Given the description of an element on the screen output the (x, y) to click on. 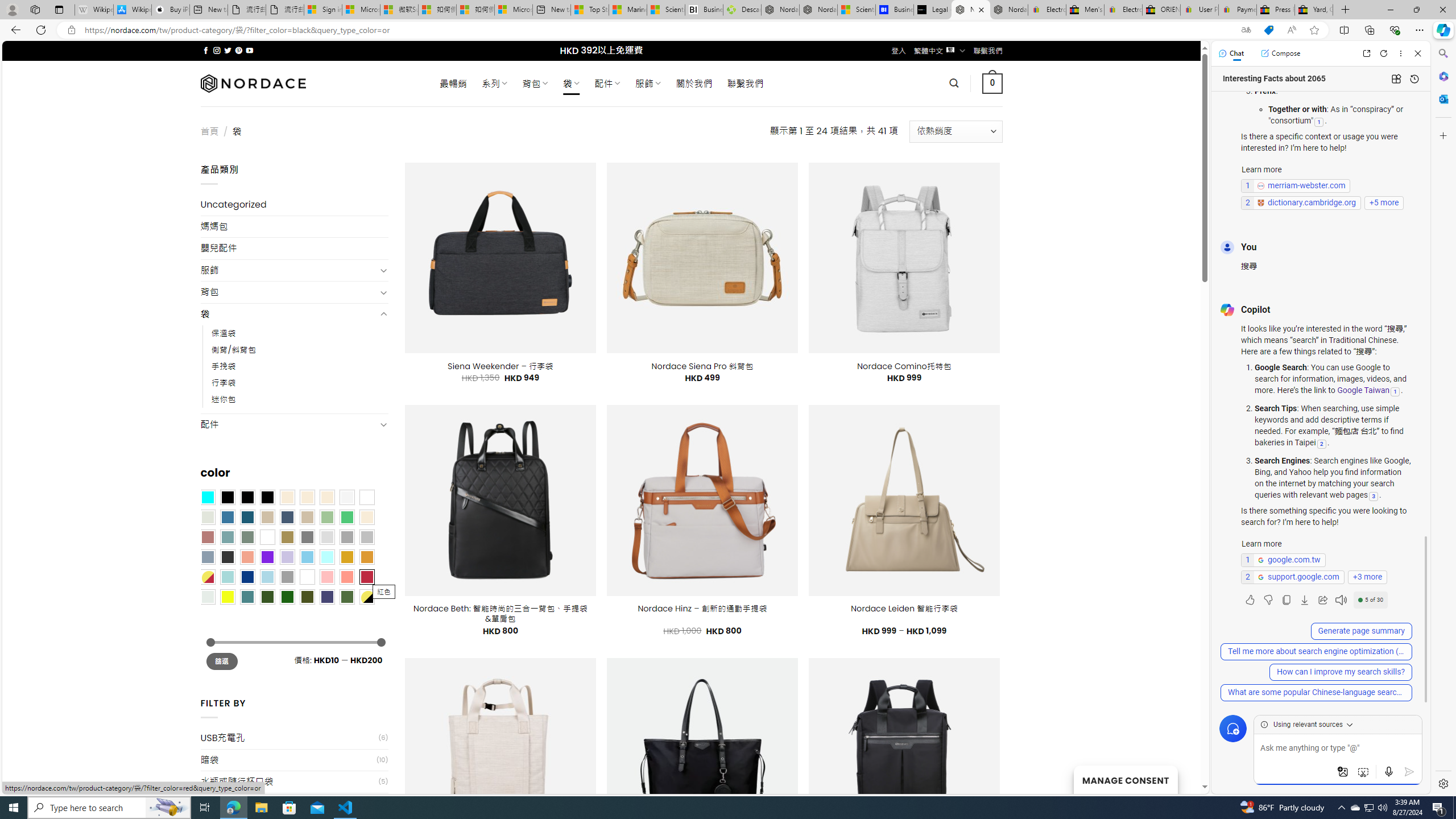
Buy iPad - Apple (171, 9)
Chat (1231, 52)
Uncategorized (294, 204)
